Given the description of an element on the screen output the (x, y) to click on. 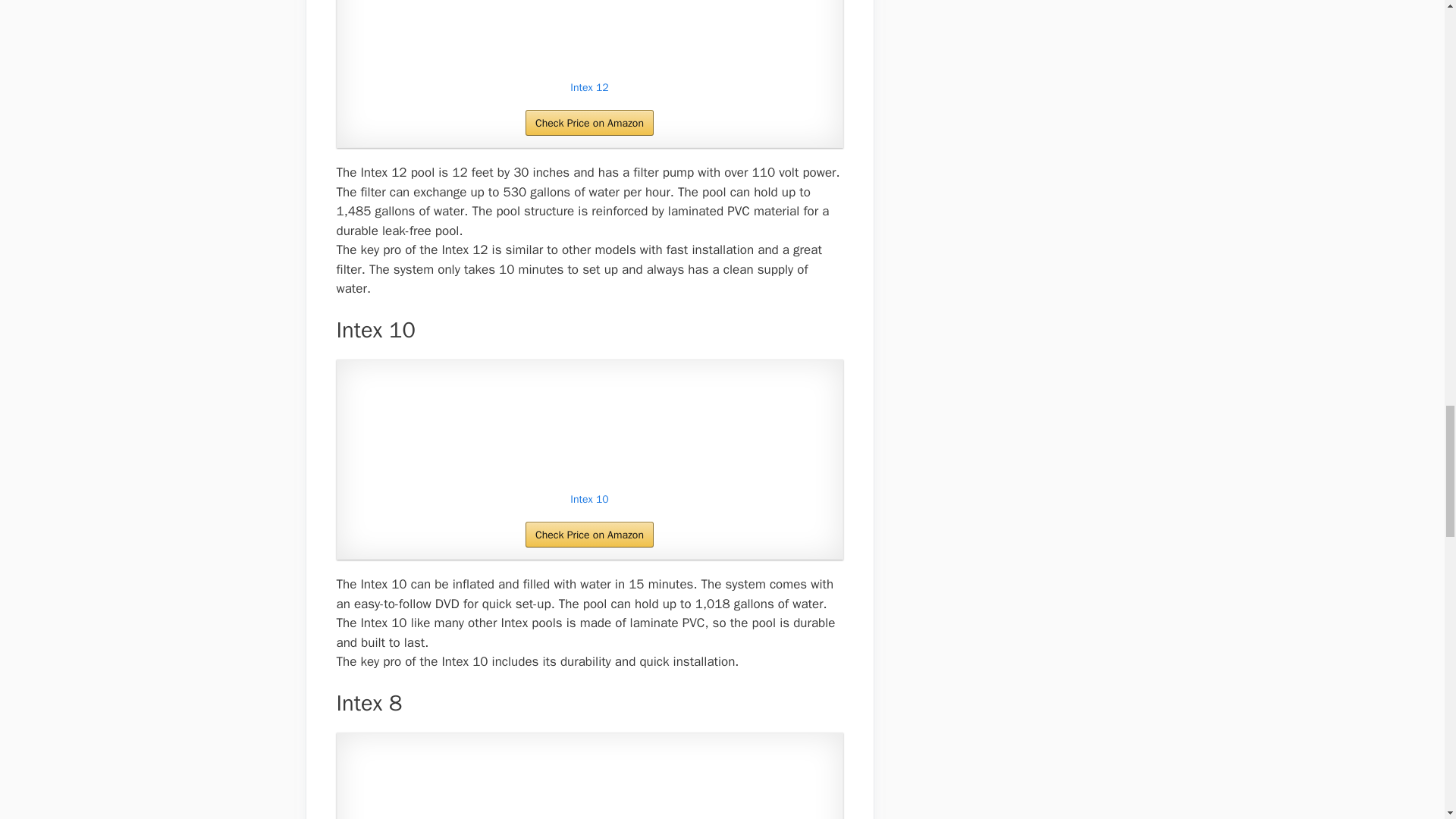
Intex 12 (590, 88)
Check Price on Amazon (589, 122)
Best Easy Set Pool 2020 3 (589, 36)
Intex 12 (590, 36)
